Given the description of an element on the screen output the (x, y) to click on. 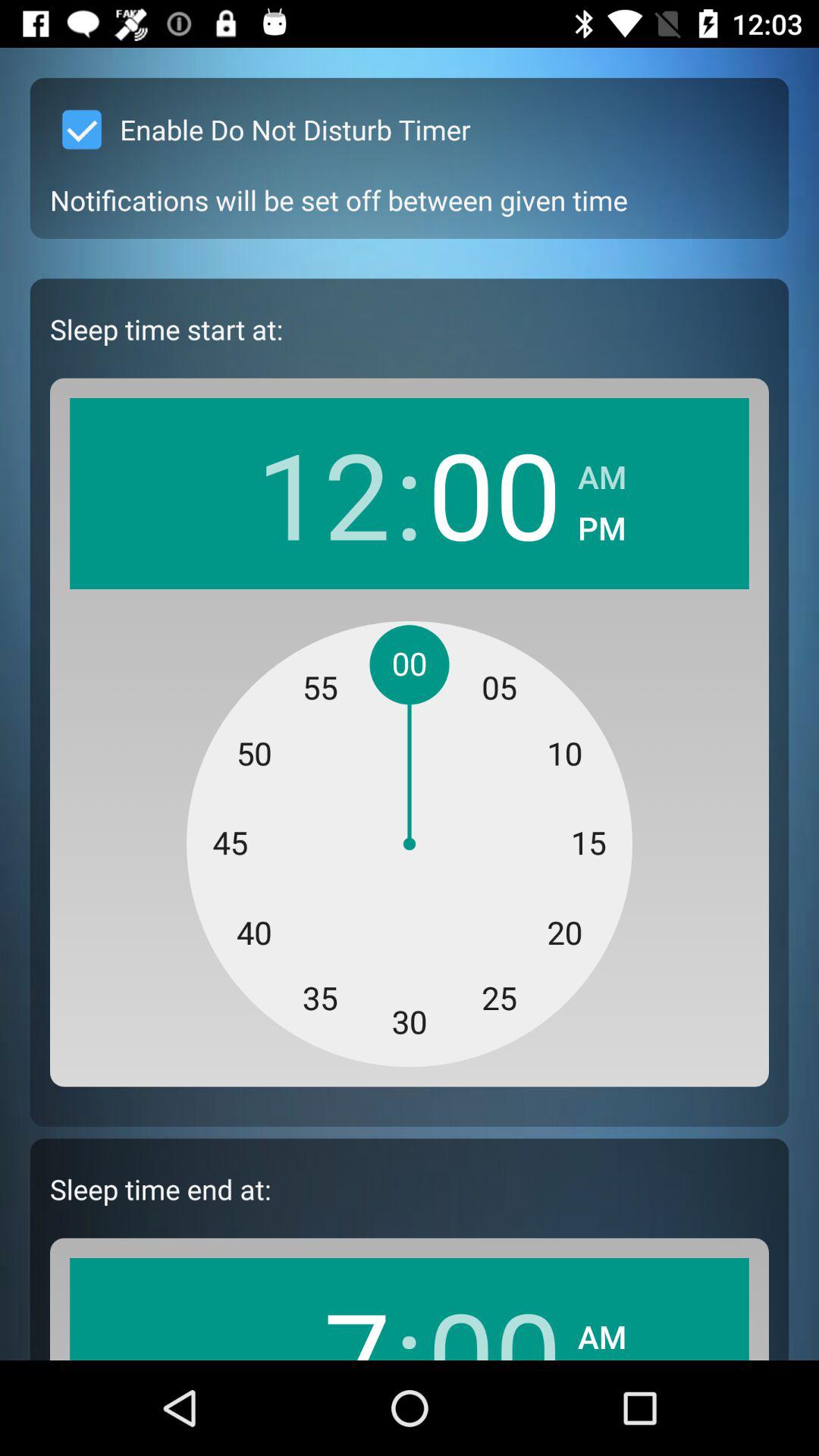
choose the icon to the left of : item (323, 493)
